Given the description of an element on the screen output the (x, y) to click on. 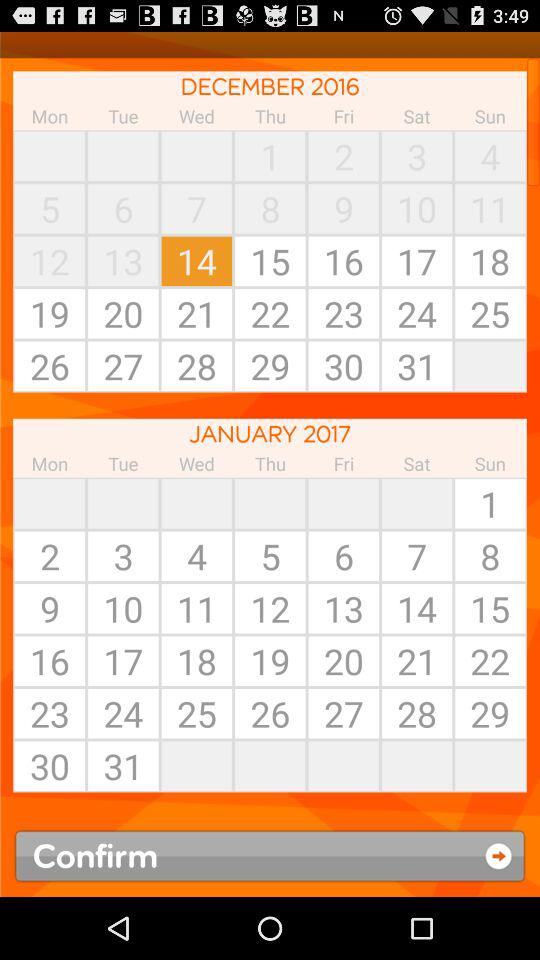
turn off icon below 24 item (196, 765)
